Given the description of an element on the screen output the (x, y) to click on. 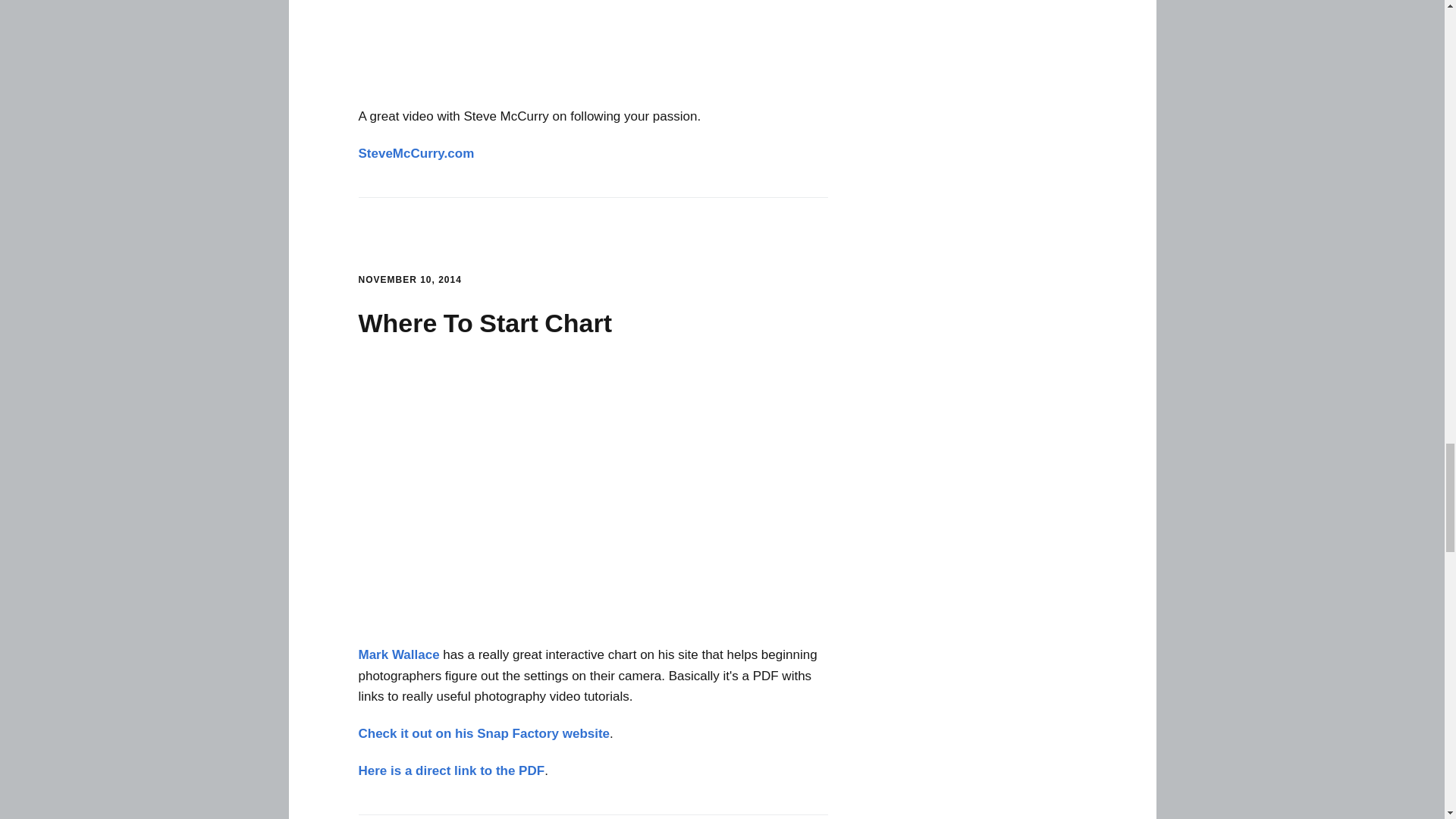
Steve McCurry on following your passion (593, 44)
